Given the description of an element on the screen output the (x, y) to click on. 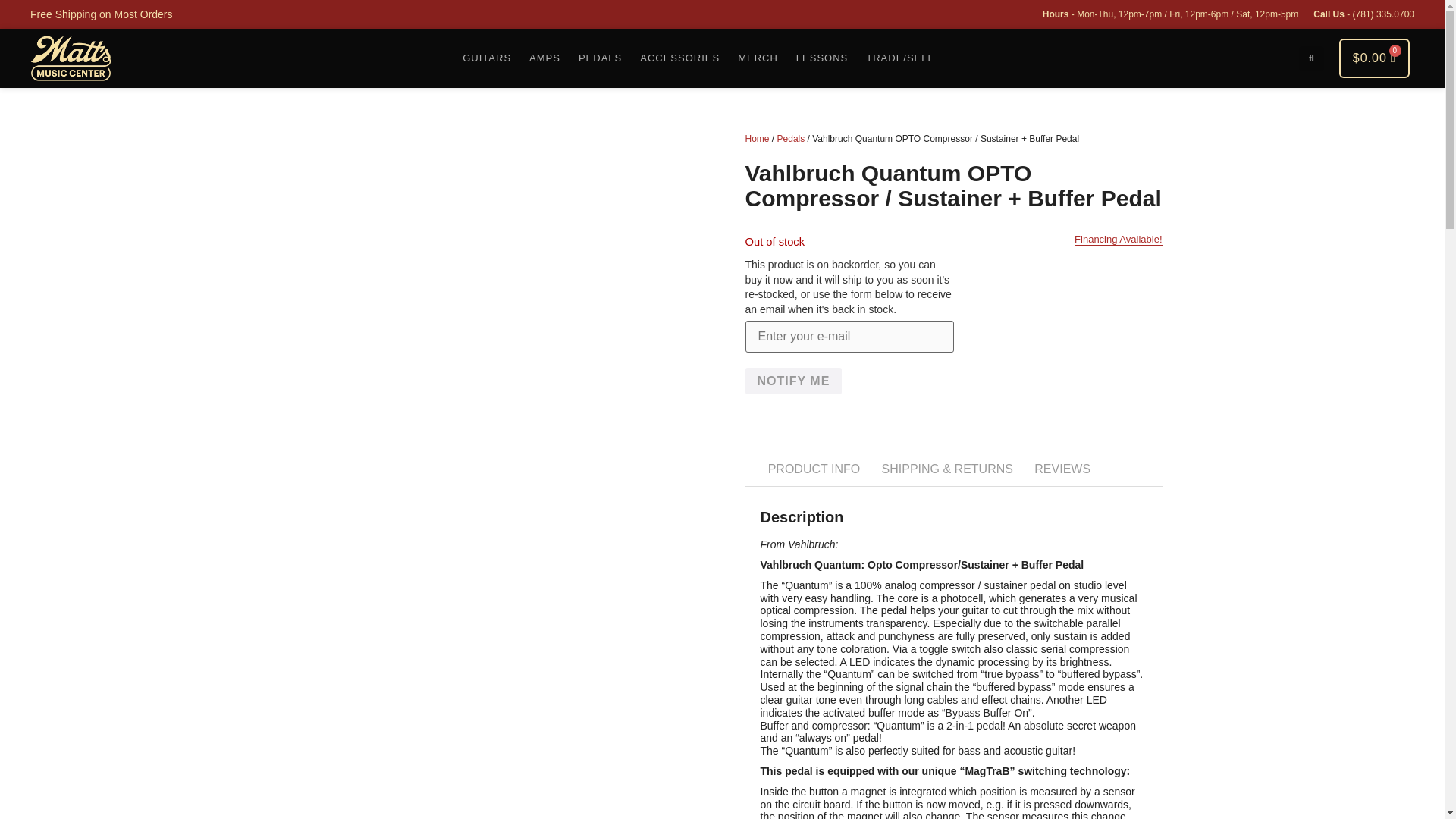
LESSONS (822, 57)
ACCESSORIES (678, 57)
GUITARS (486, 57)
MERCH (758, 57)
PEDALS (599, 57)
